Given the description of an element on the screen output the (x, y) to click on. 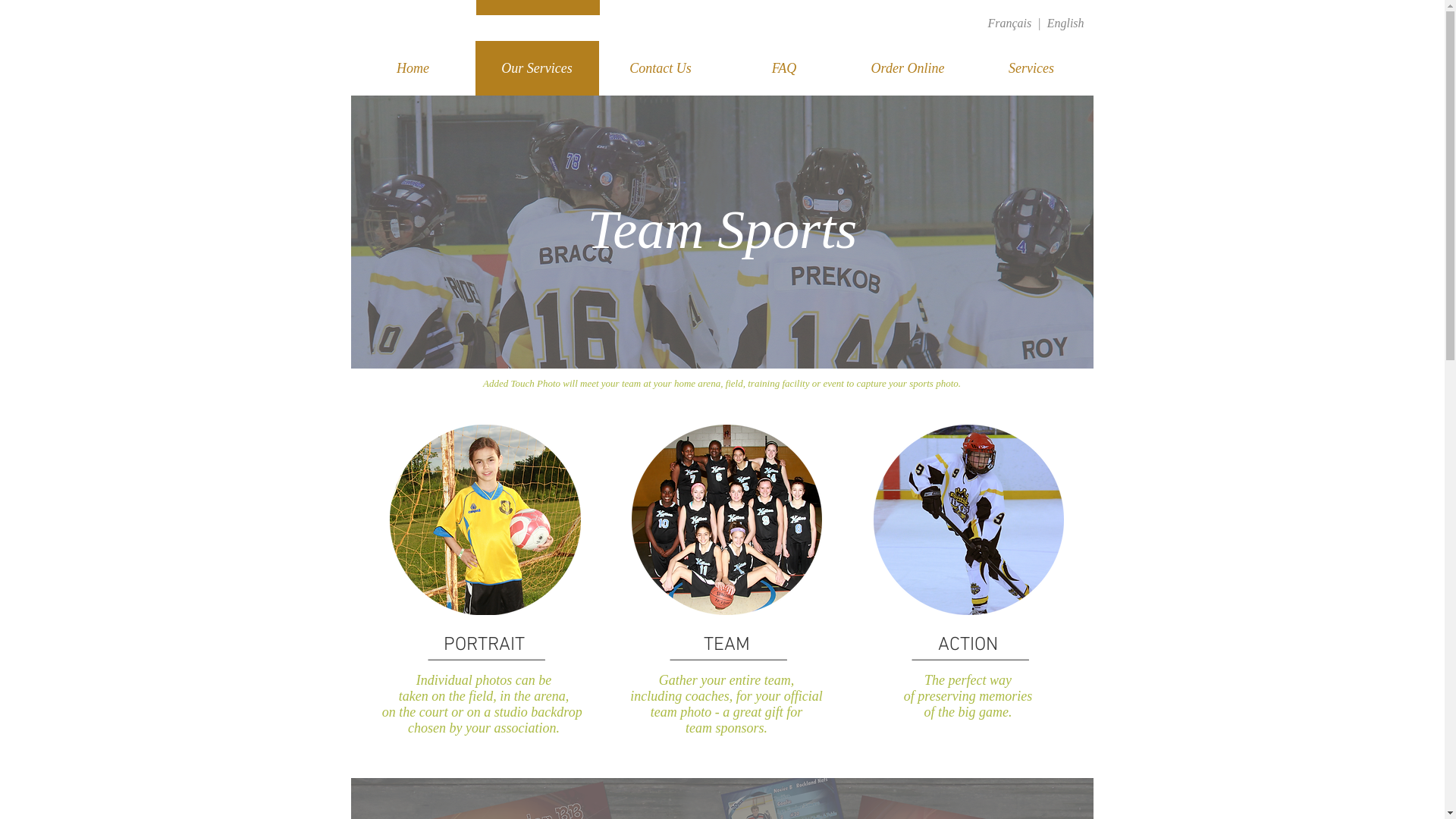
Home Element type: text (412, 67)
Sports_Team.png Element type: hover (725, 519)
Contact Us Element type: text (660, 67)
Sports_TopBanner.png Element type: hover (721, 231)
Services Element type: text (1030, 67)
Sports_Action.png Element type: hover (968, 519)
Order Online Element type: text (907, 67)
Our Services Element type: text (536, 67)
Sports_Portrait.png Element type: hover (484, 519)
FAQ Element type: text (783, 67)
